Given the description of an element on the screen output the (x, y) to click on. 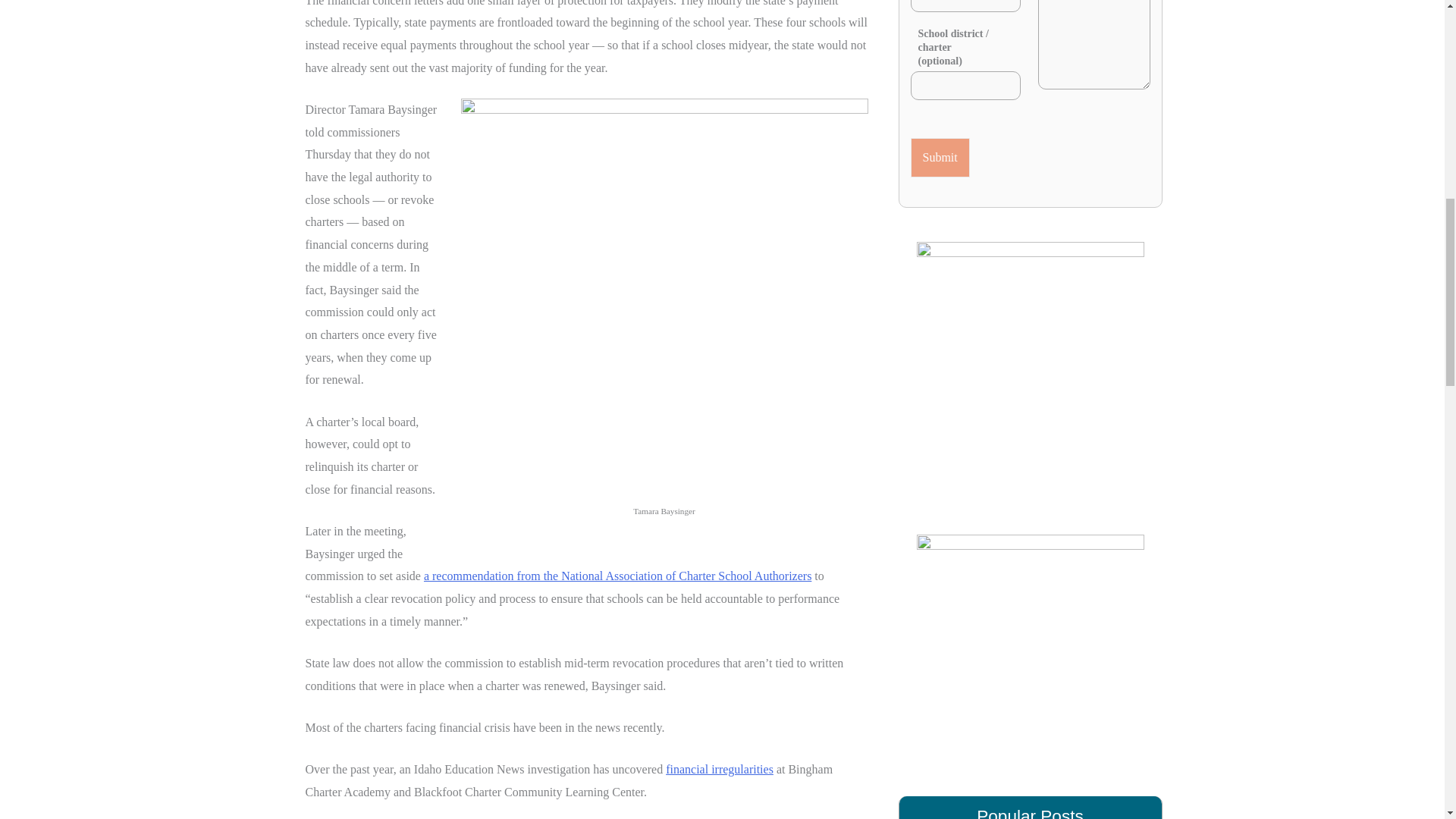
financial irregularities (719, 768)
Submit (939, 157)
